Given the description of an element on the screen output the (x, y) to click on. 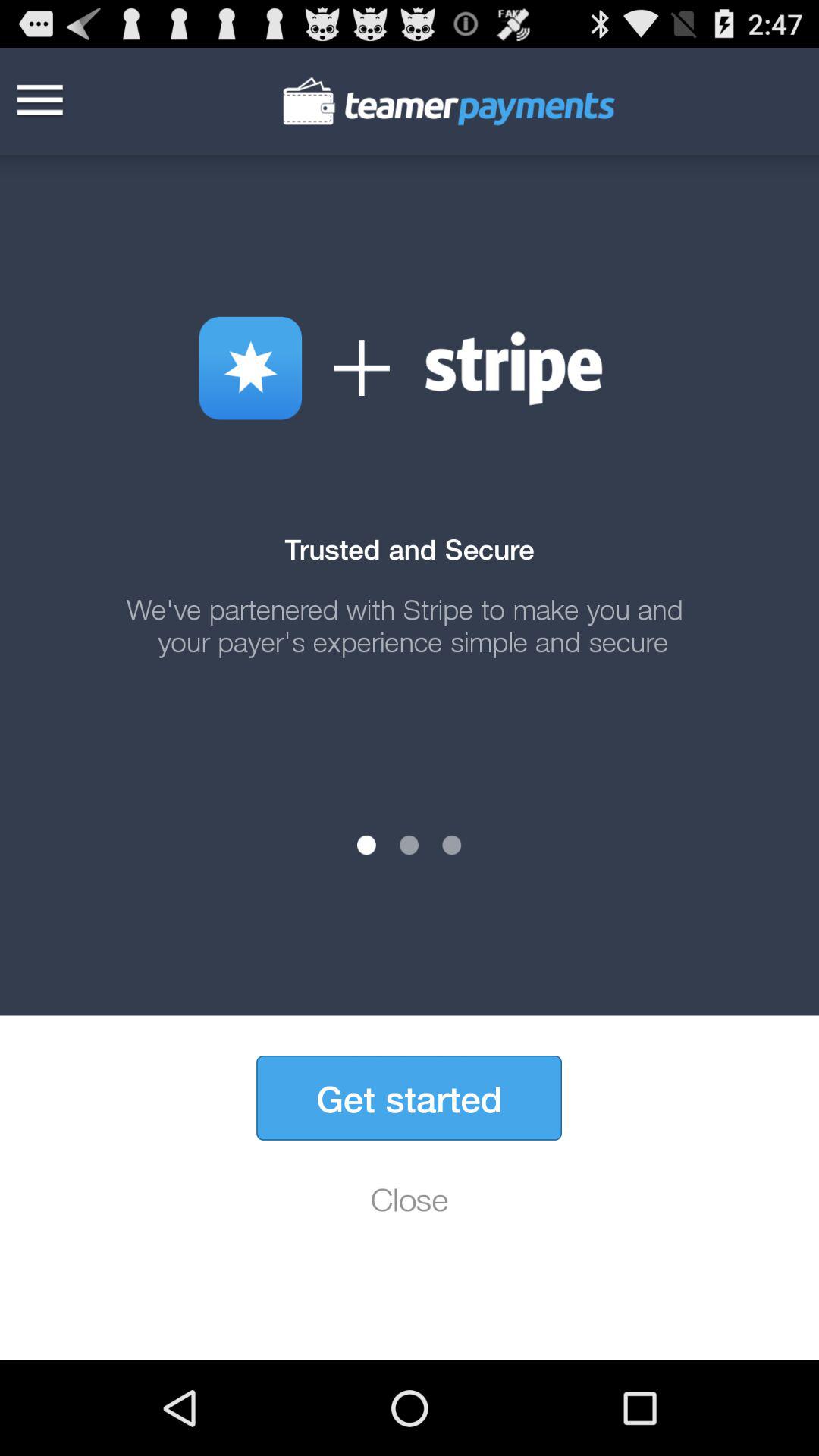
jump to the get started icon (408, 1097)
